Given the description of an element on the screen output the (x, y) to click on. 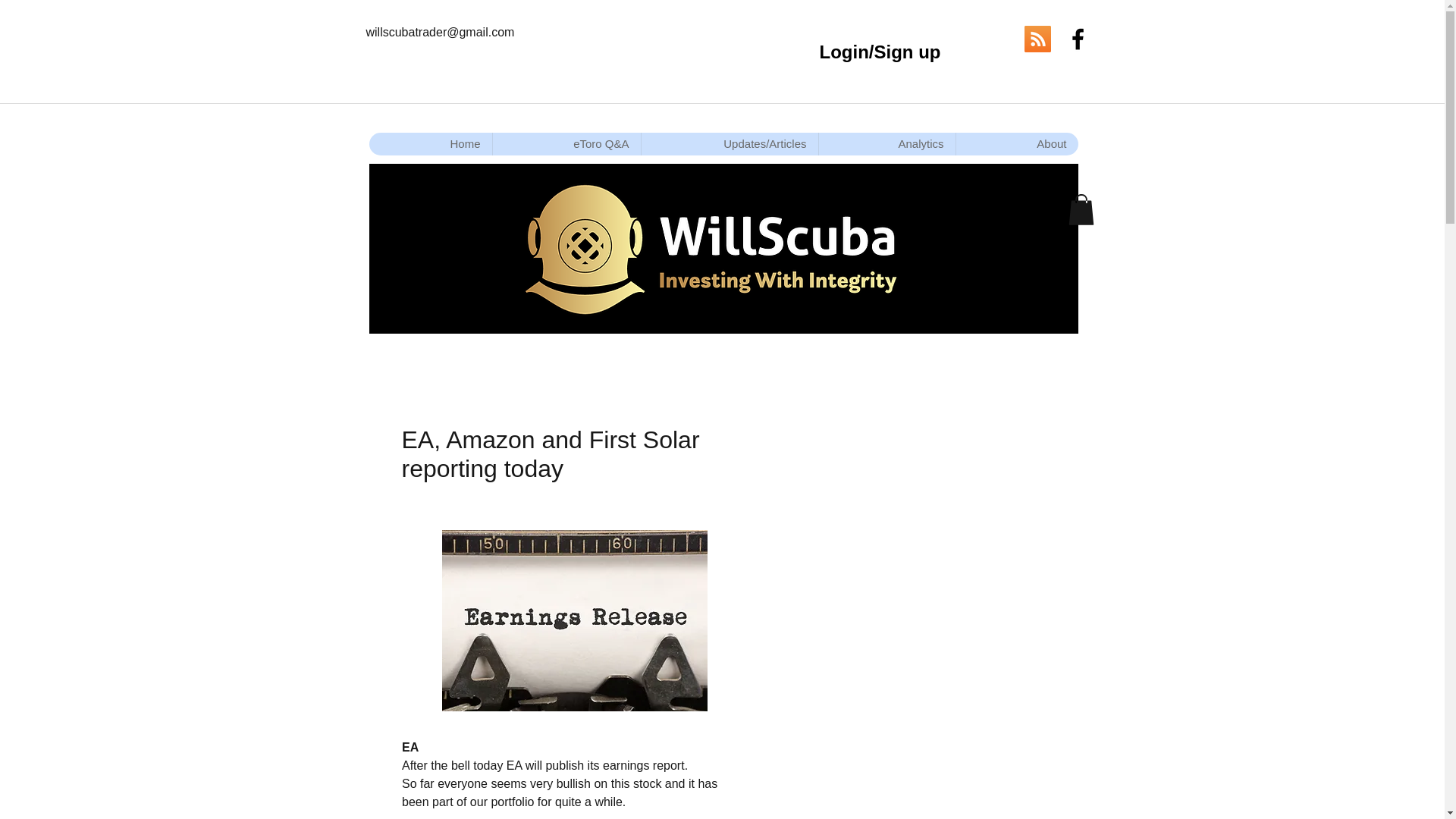
RSS Feed (1036, 39)
Twitter Follow (988, 39)
Home (430, 143)
Analytics (885, 143)
About (1016, 143)
